Given the description of an element on the screen output the (x, y) to click on. 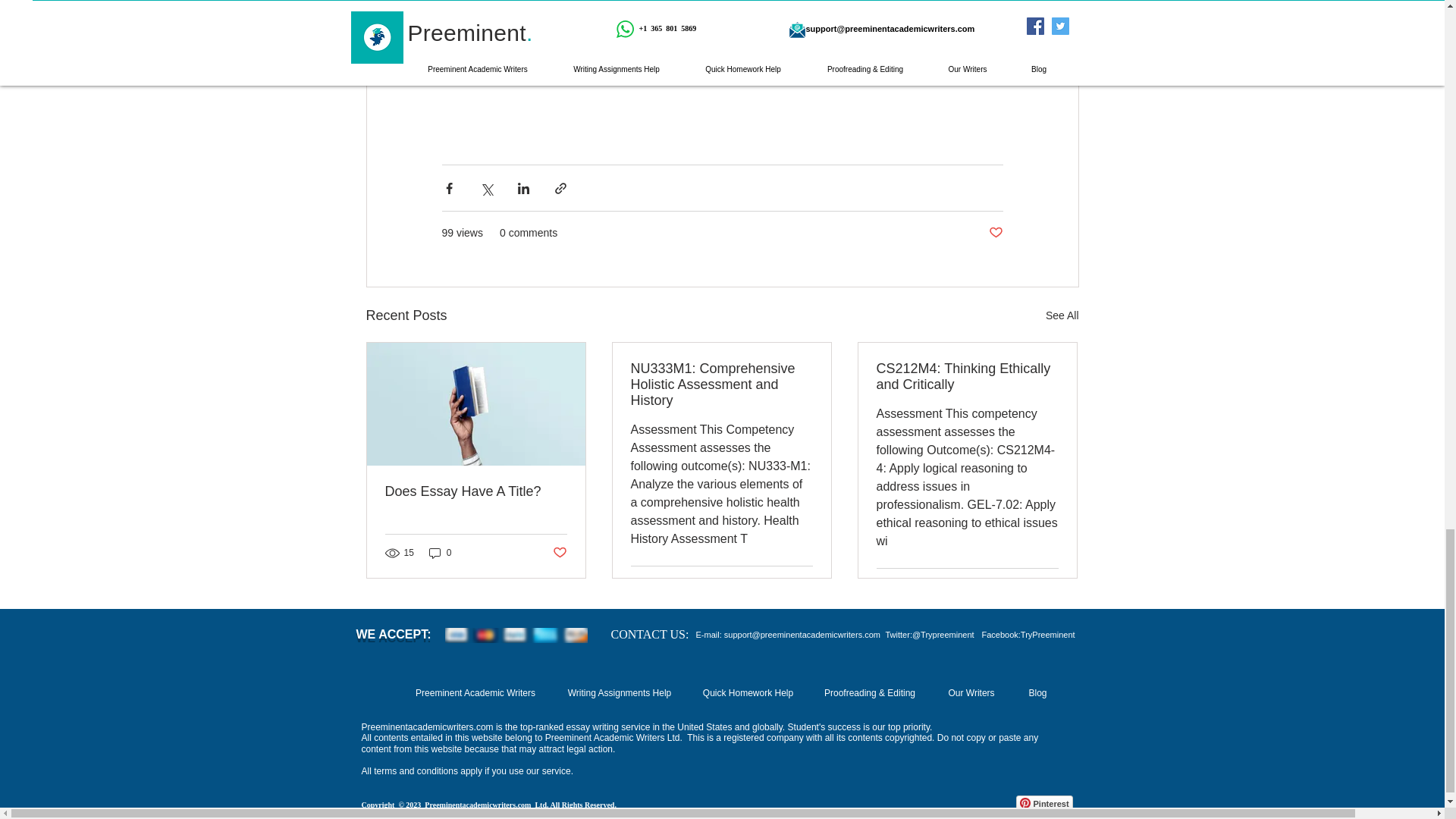
See All (1061, 315)
Twitter Follow (846, 808)
Pinterest (1044, 802)
Facebook Like (960, 807)
Post not marked as liked (995, 232)
